Given the description of an element on the screen output the (x, y) to click on. 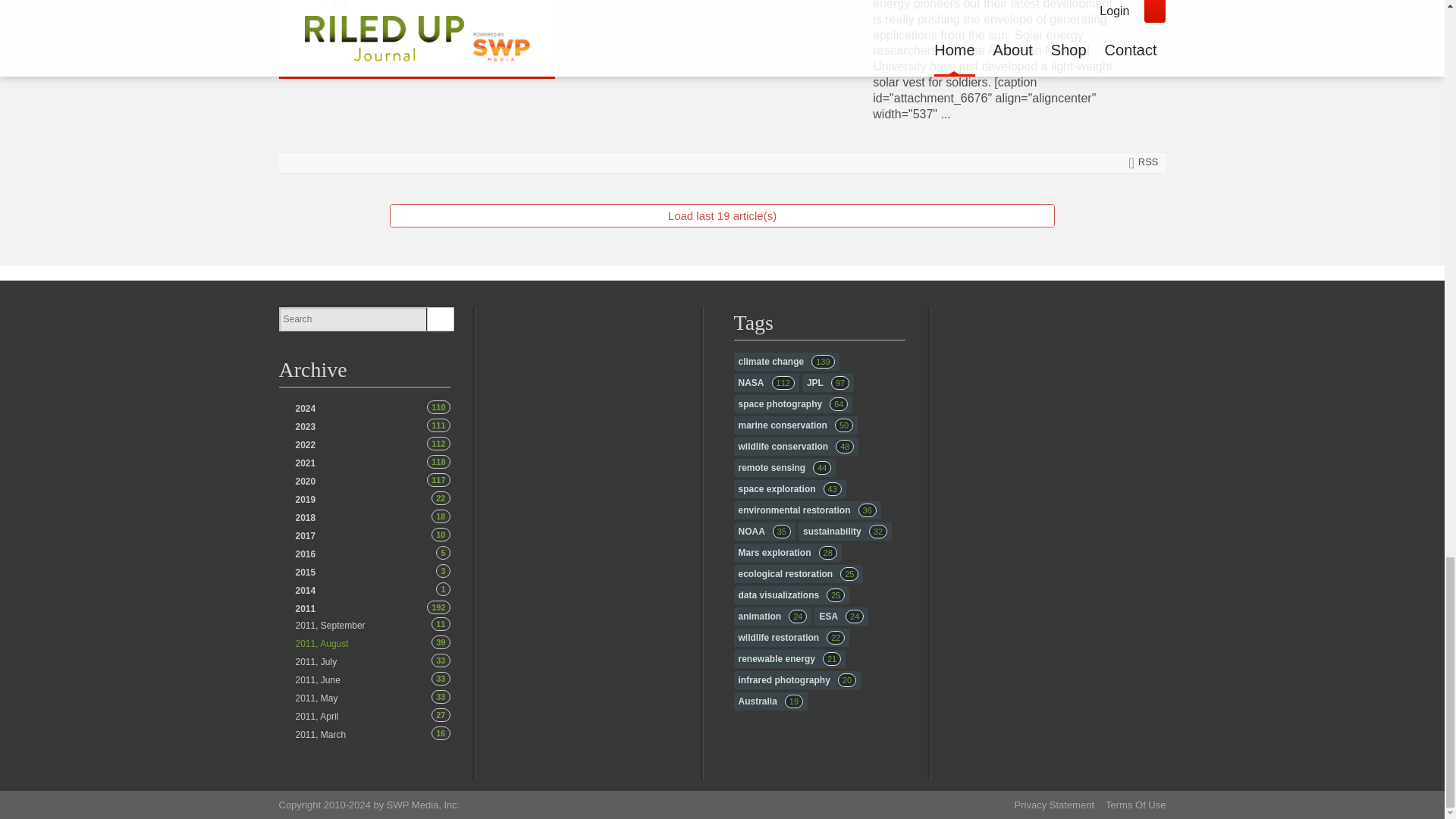
Search (352, 318)
2024 (305, 408)
2023 (305, 408)
RSS (305, 426)
